Given the description of an element on the screen output the (x, y) to click on. 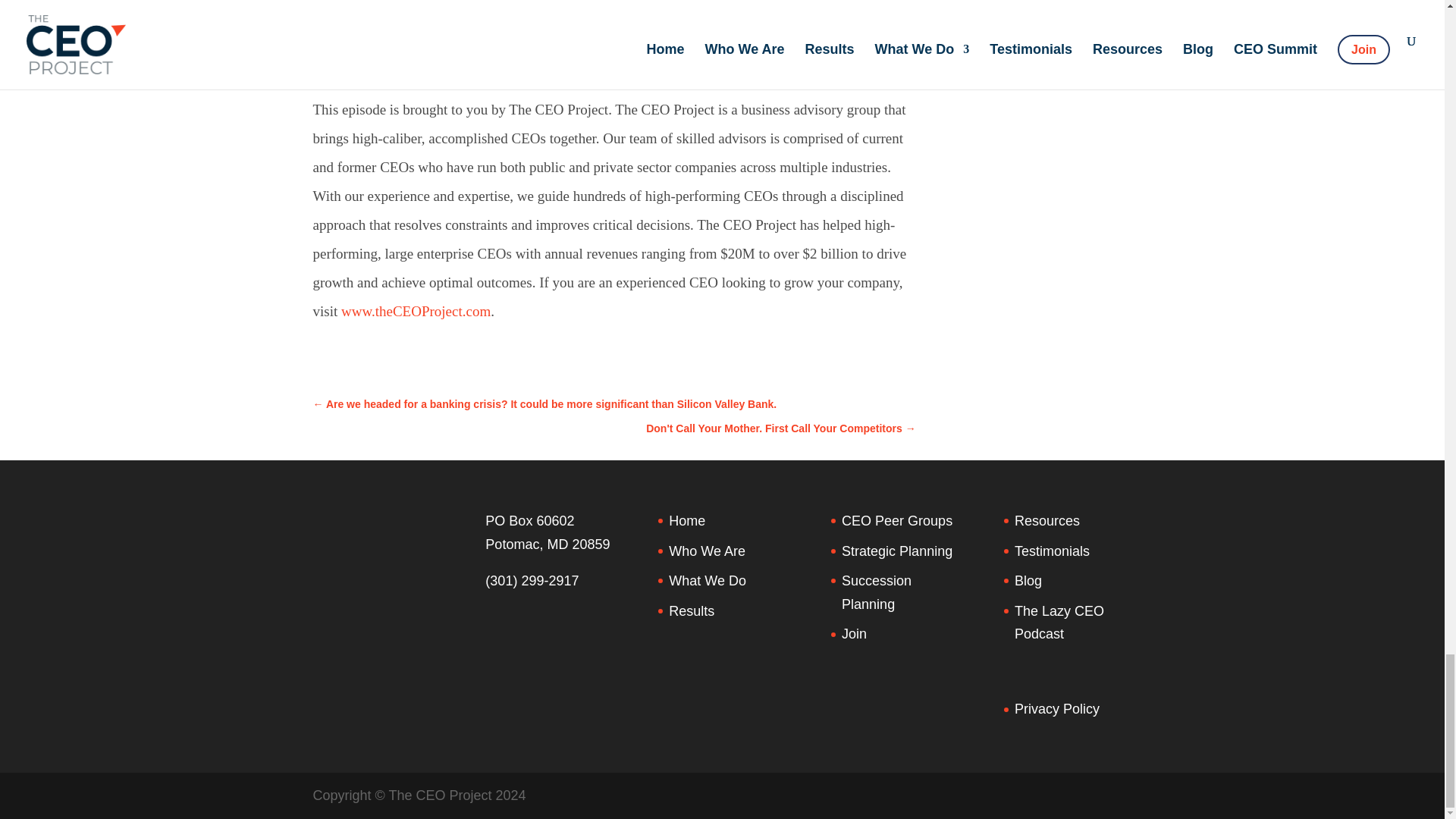
The CEO Project (376, 7)
www.theCEOProject.com (415, 311)
Telephone (531, 580)
